Given the description of an element on the screen output the (x, y) to click on. 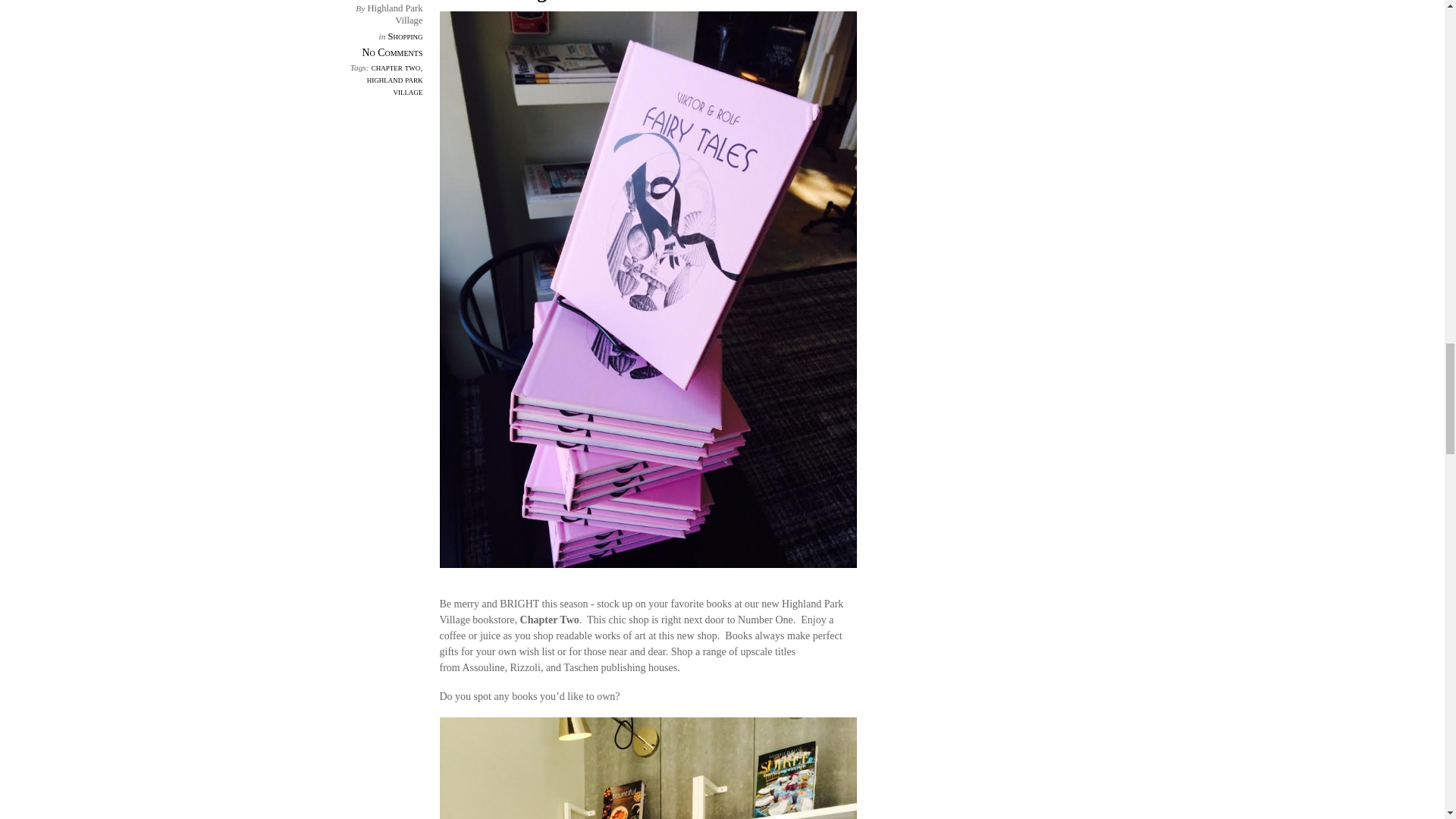
highland park village (394, 85)
Shopping (404, 36)
No Comments (392, 52)
View all posts in Shopping (404, 36)
chapter two (395, 67)
